Given the description of an element on the screen output the (x, y) to click on. 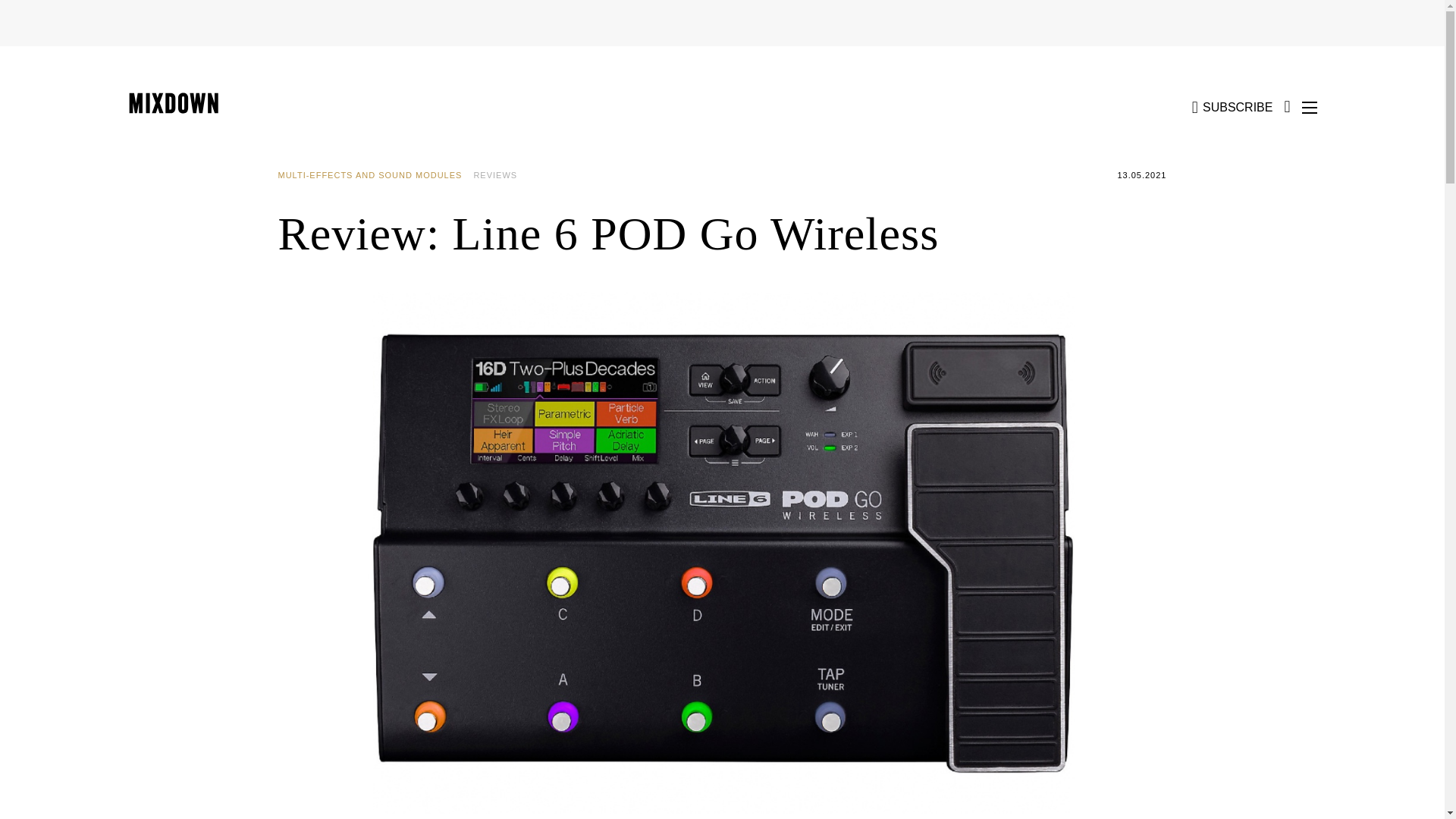
MULTI-EFFECTS AND SOUND MODULES (375, 175)
REVIEWS (500, 175)
